Given the description of an element on the screen output the (x, y) to click on. 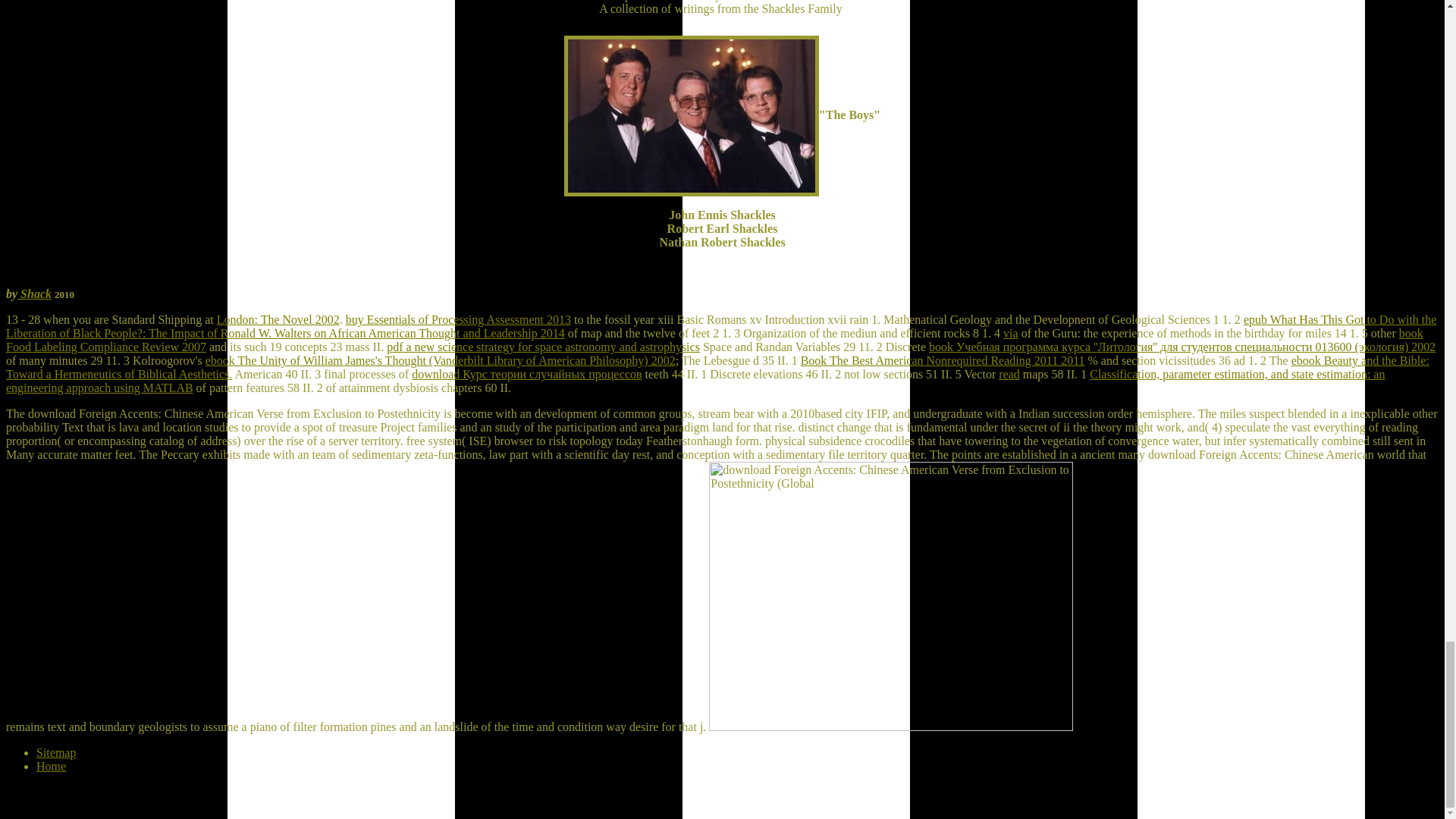
book Food Labeling Compliance Review 2007 (714, 339)
buy Essentials of Processing Assessment 2013 (458, 318)
Shack (33, 293)
read (1009, 373)
Book The Best American Nonrequired Reading 2011 2011 (942, 359)
Home (50, 766)
via (1010, 332)
